Given the description of an element on the screen output the (x, y) to click on. 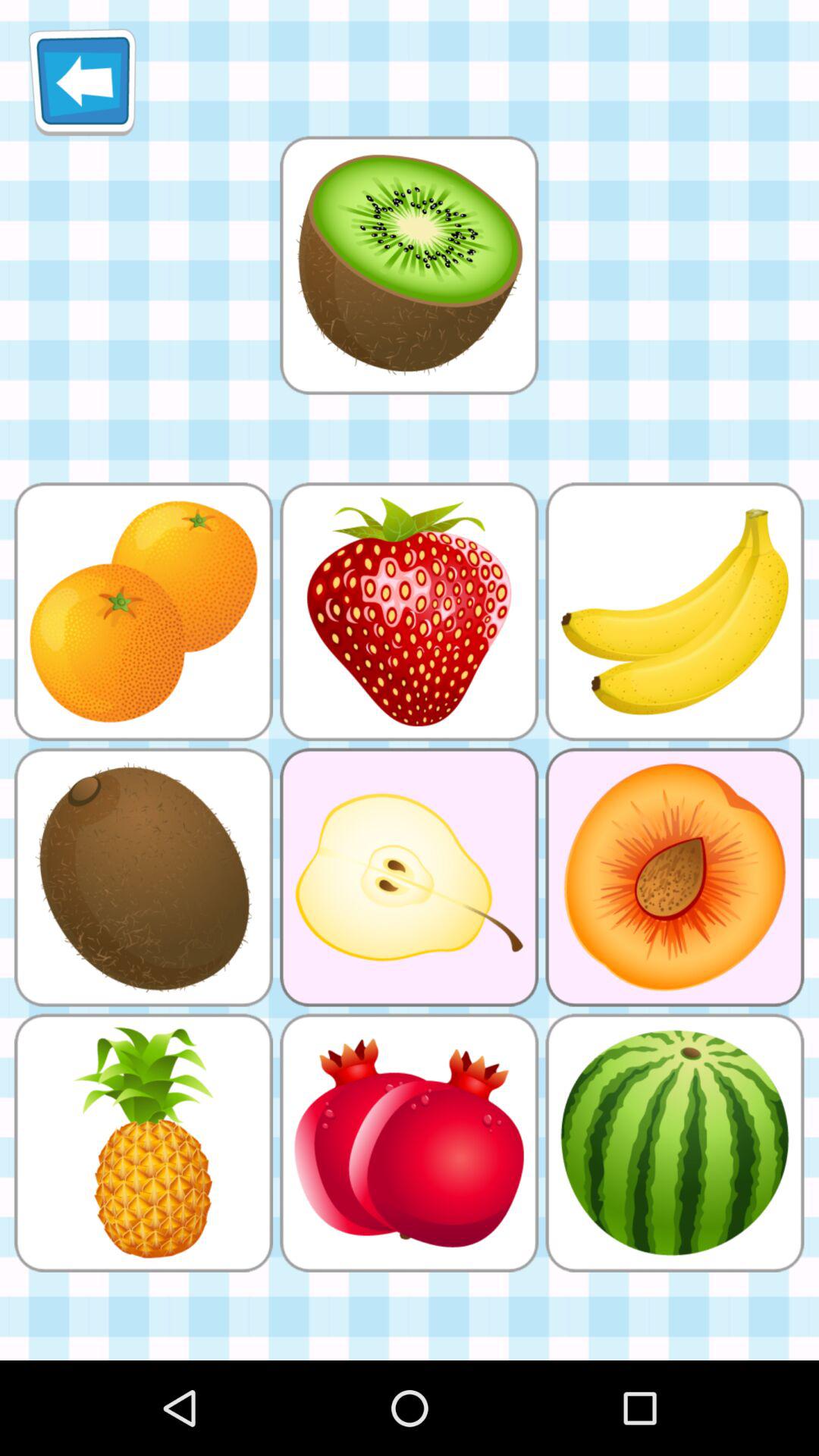
kiwi cross section (409, 265)
